Given the description of an element on the screen output the (x, y) to click on. 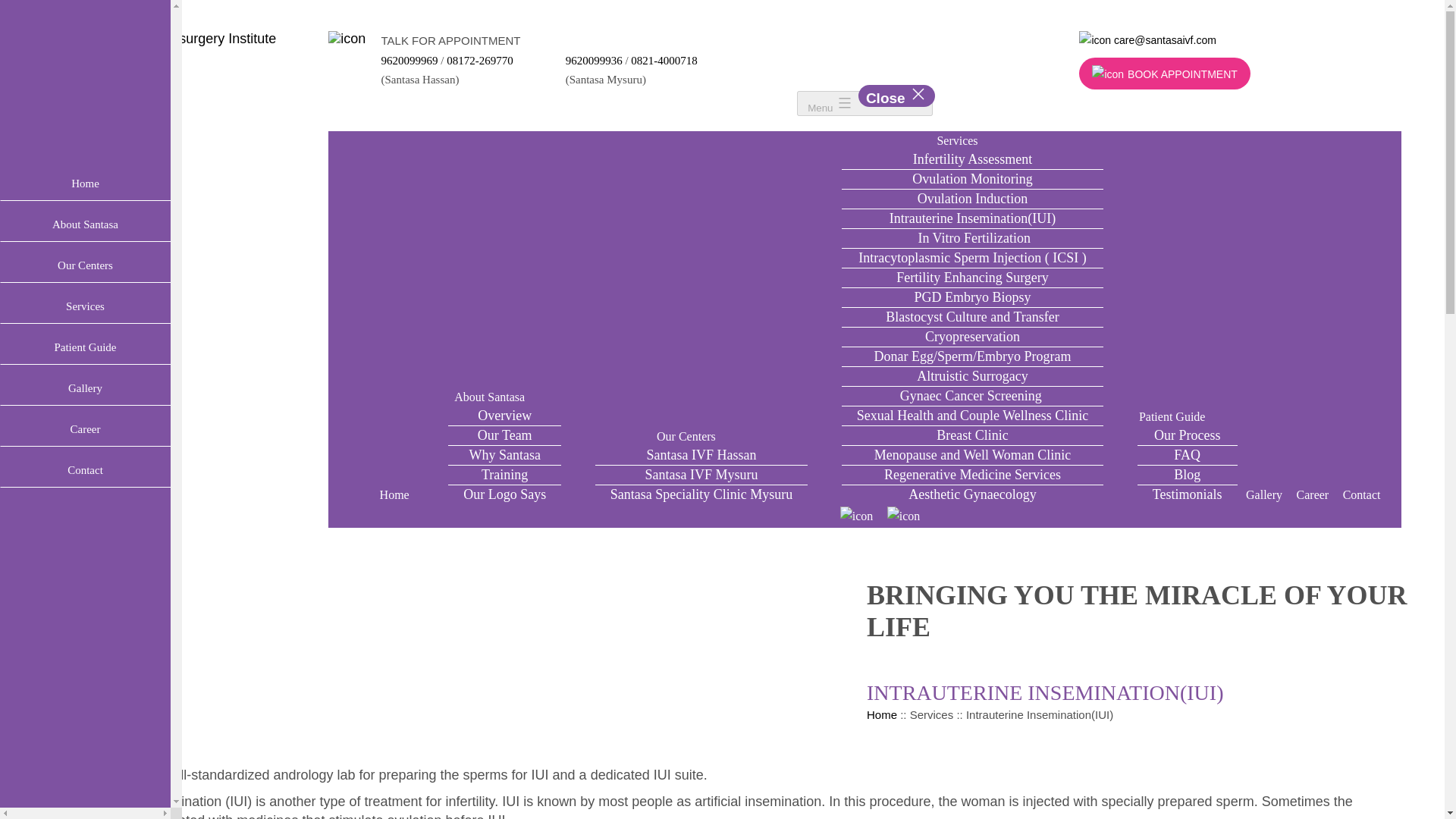
9620099936 (596, 60)
Home (394, 494)
Cryopreservation (972, 336)
SantasaIVF - Mysuru Call (596, 60)
Breast Clinic (972, 434)
Ovulation Induction (972, 198)
Skip to content (45, 7)
08172-269770 (479, 60)
Santasa IVF Hassan (700, 454)
9620099969 (411, 60)
Menopause and Well Woman Clinic (863, 103)
 In Vitro Fertilization (972, 454)
SantasaIVF - Call (972, 237)
Sexual Health and Couple Wellness Clinic (347, 38)
